Given the description of an element on the screen output the (x, y) to click on. 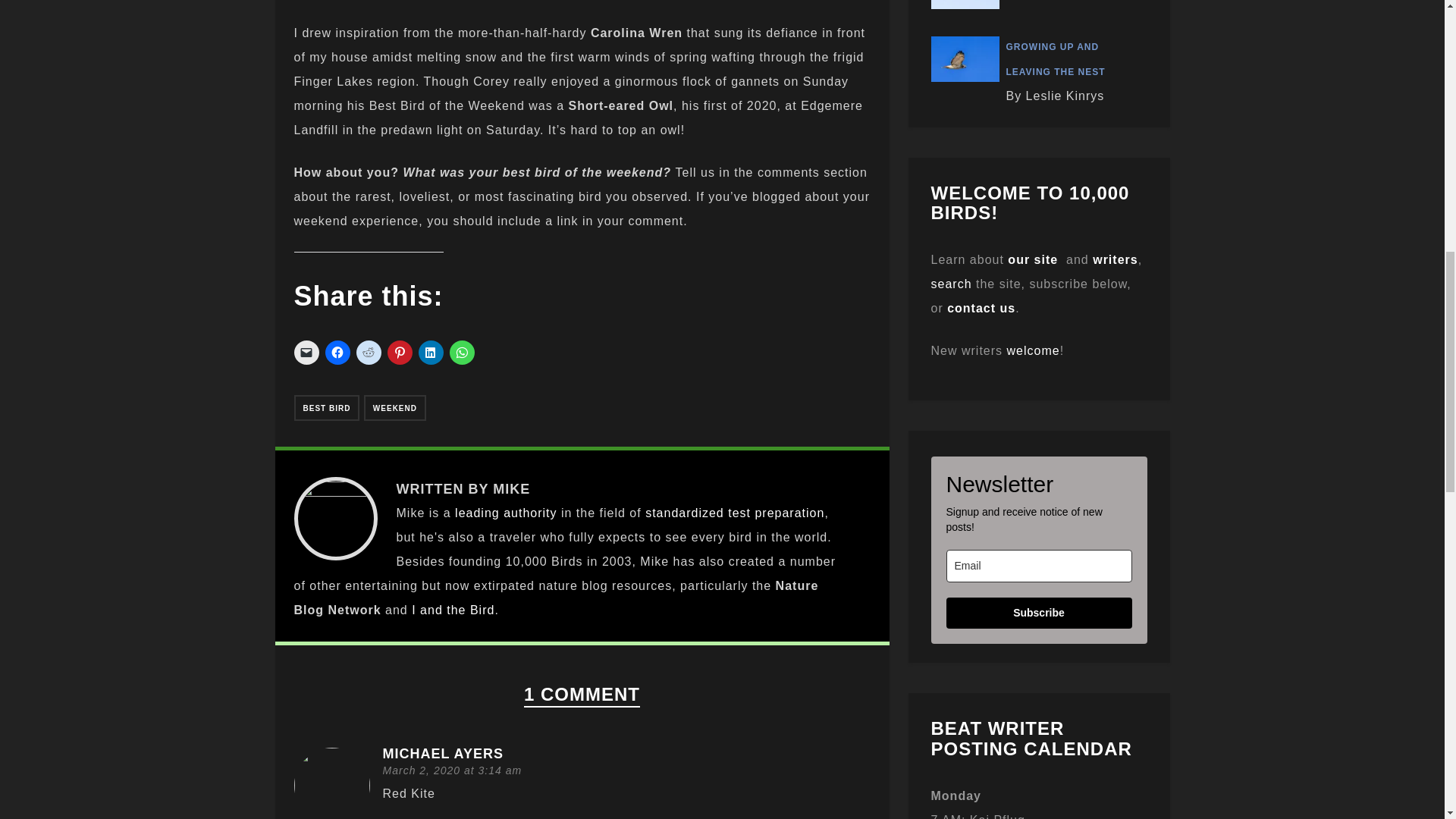
Click to share on Pinterest (399, 352)
Click to share on Facebook (336, 352)
Click to share on Reddit (368, 352)
leading (476, 512)
WEEKEND (395, 407)
BEST BIRD (326, 407)
authority (529, 512)
Click to email a link to a friend (306, 352)
I and the Bird (453, 609)
standardized test preparation (734, 512)
Click to share on LinkedIn (431, 352)
Click to share on WhatsApp (461, 352)
